Given the description of an element on the screen output the (x, y) to click on. 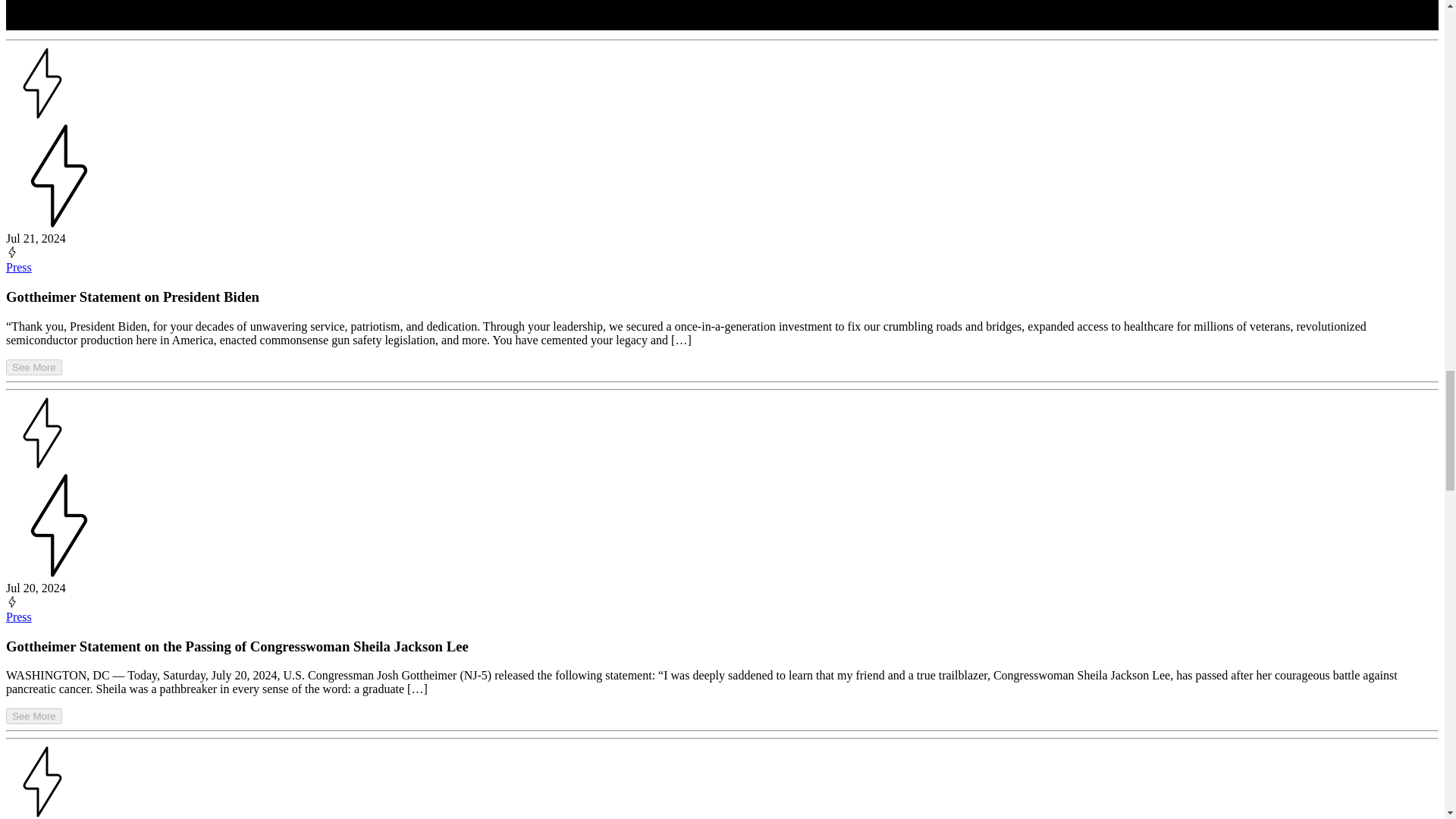
See More (33, 367)
See More (33, 366)
See More (33, 715)
See More (33, 715)
